Given the description of an element on the screen output the (x, y) to click on. 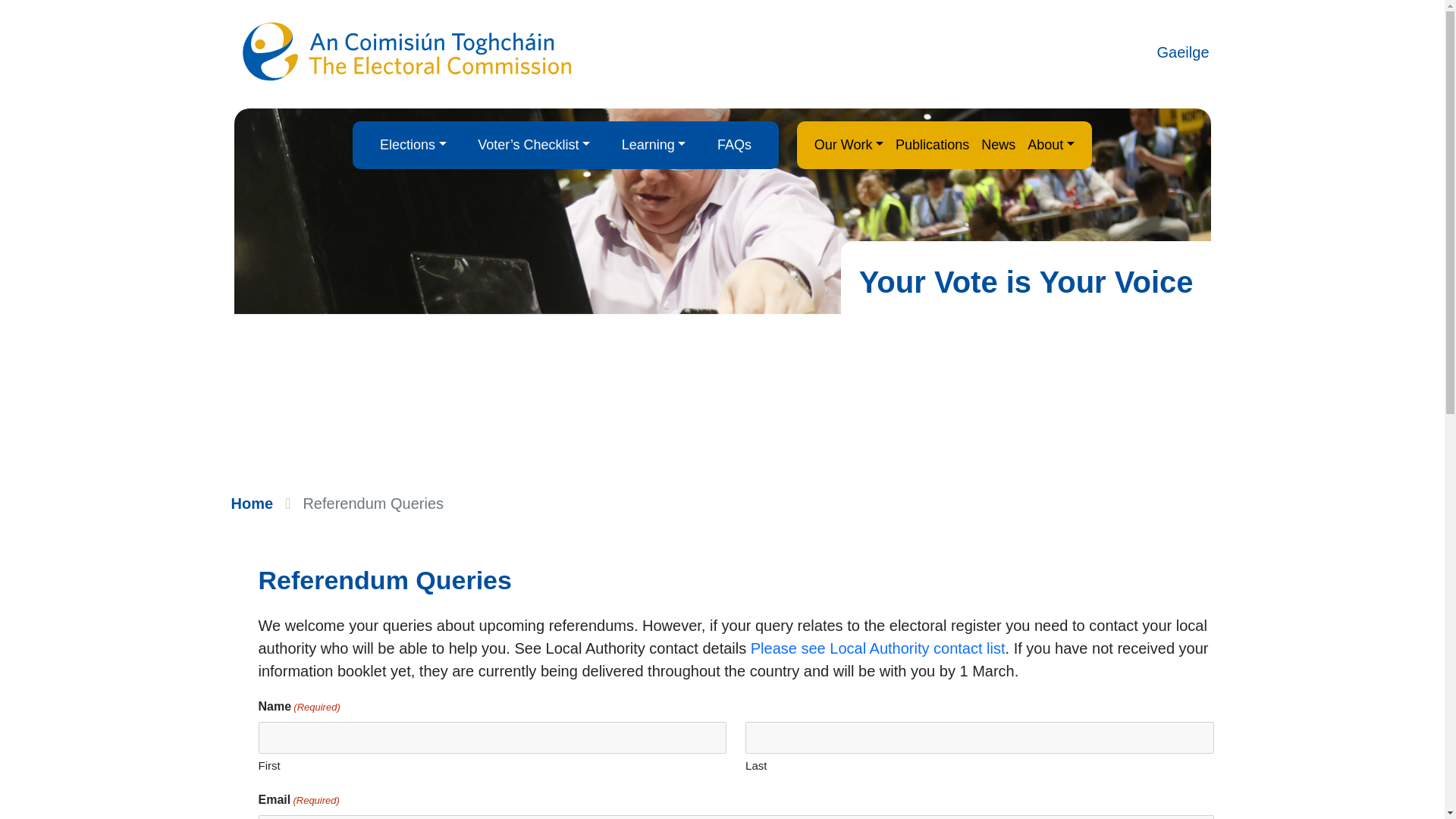
News (998, 144)
Our Work (848, 144)
Home (251, 503)
Elections (412, 144)
About (1051, 144)
Learning (653, 144)
FAQs (734, 144)
Publications (932, 144)
Gaeilge (1183, 51)
